Given the description of an element on the screen output the (x, y) to click on. 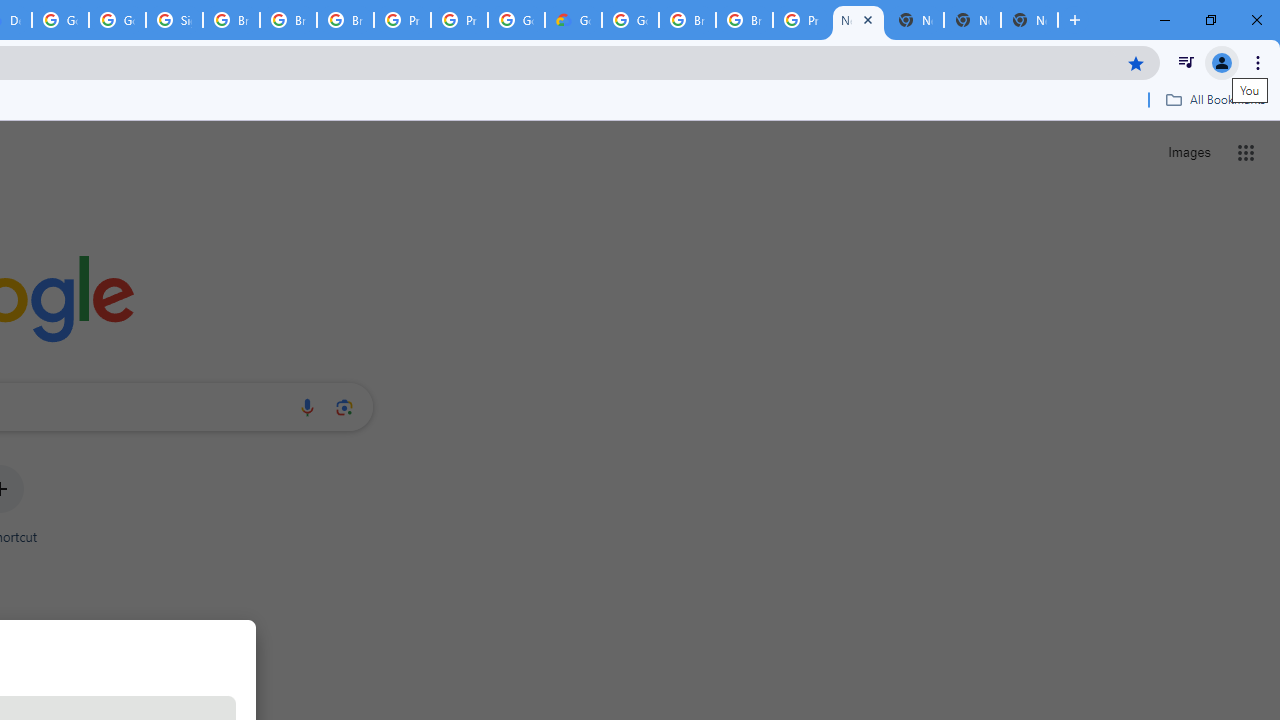
Browse Chrome as a guest - Computer - Google Chrome Help (288, 20)
Browse Chrome as a guest - Computer - Google Chrome Help (687, 20)
Google Cloud Platform (630, 20)
Google Cloud Platform (60, 20)
New Tab (1029, 20)
